Given the description of an element on the screen output the (x, y) to click on. 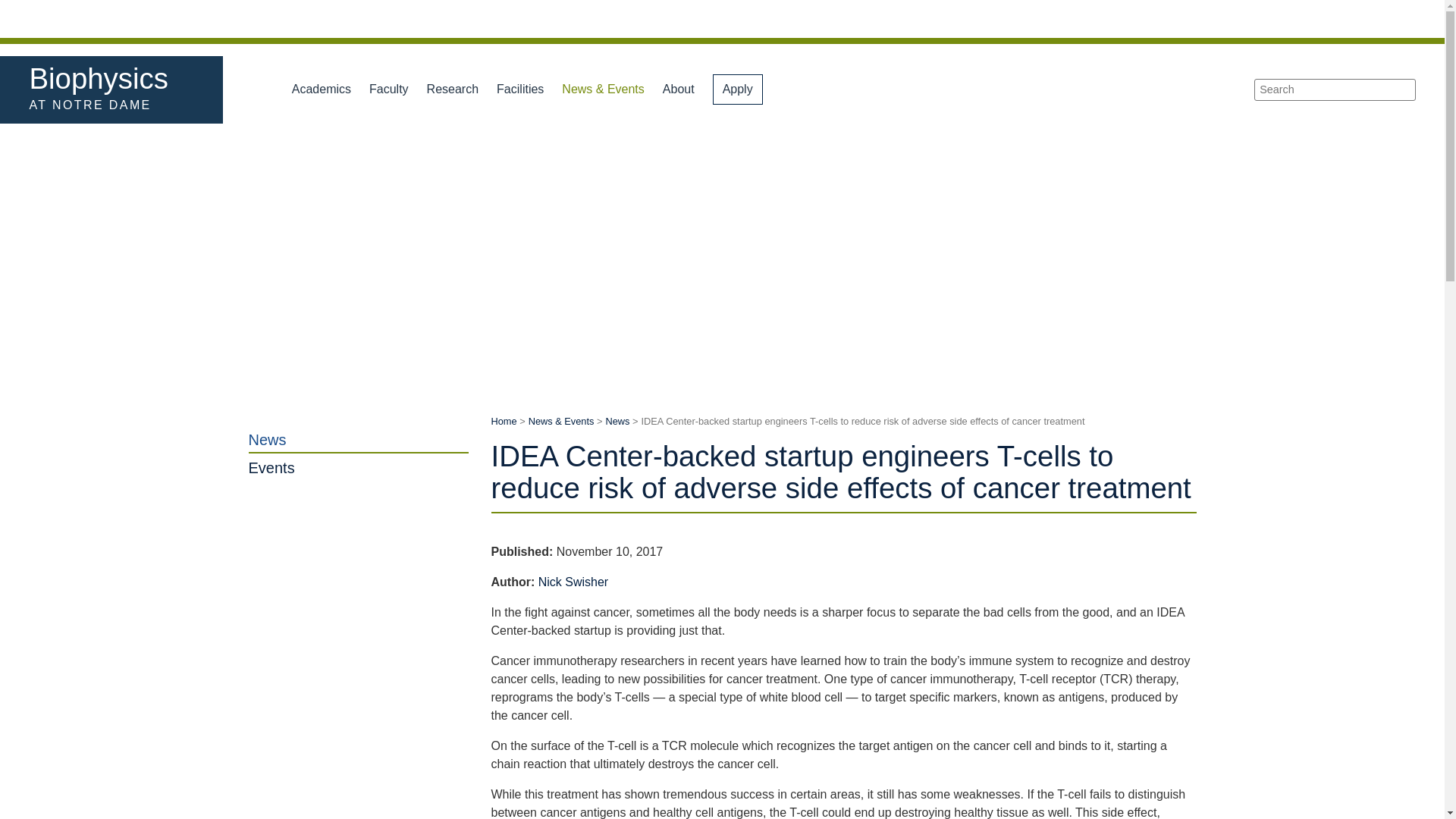
News (616, 420)
Apply (737, 89)
Academics (320, 89)
University Notre Dame (143, 18)
Facilities (520, 89)
College Science (106, 78)
News (1332, 18)
Nick Swisher (358, 440)
Events (573, 581)
